Given the description of an element on the screen output the (x, y) to click on. 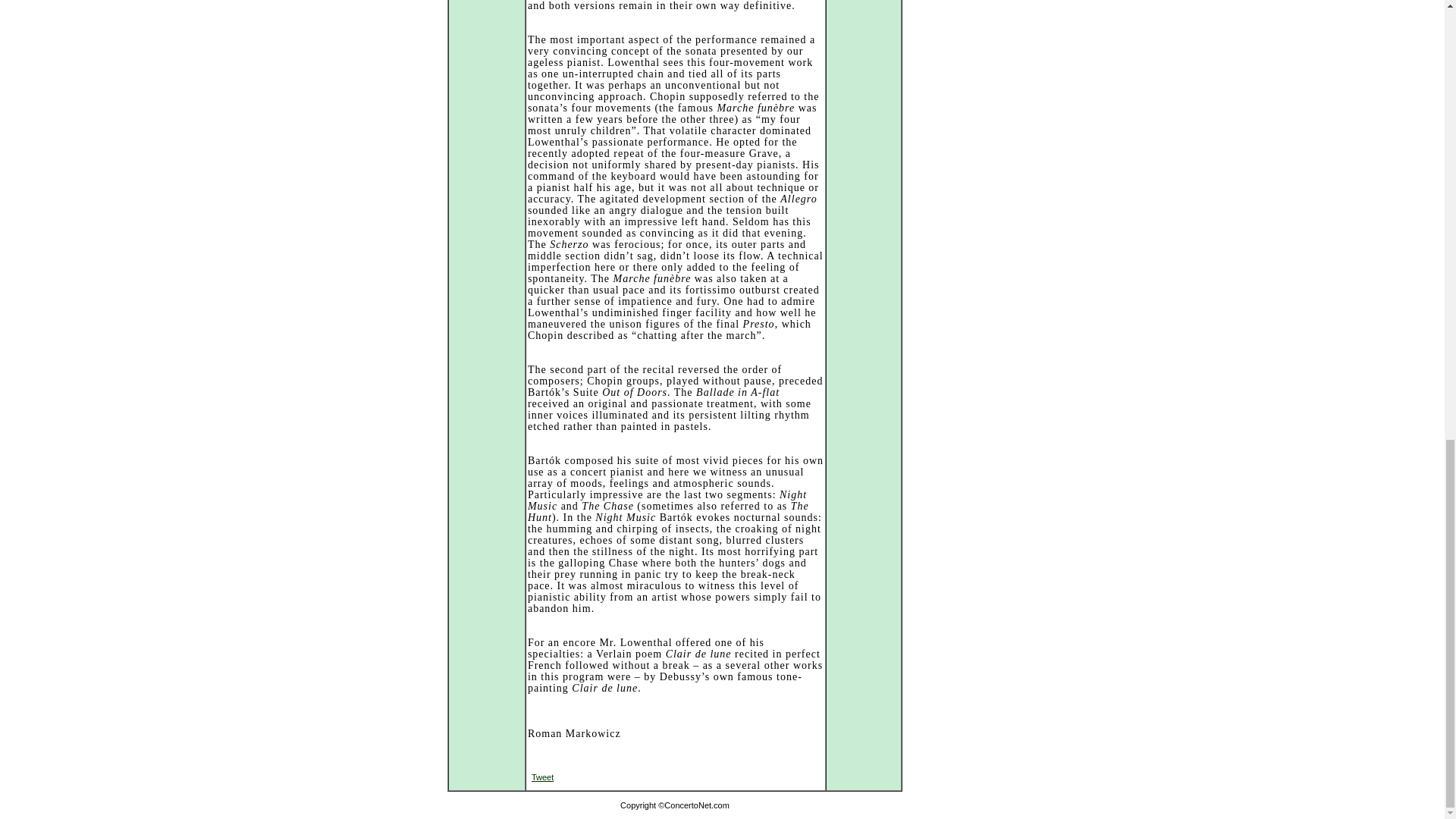
Tweet (542, 777)
